Given the description of an element on the screen output the (x, y) to click on. 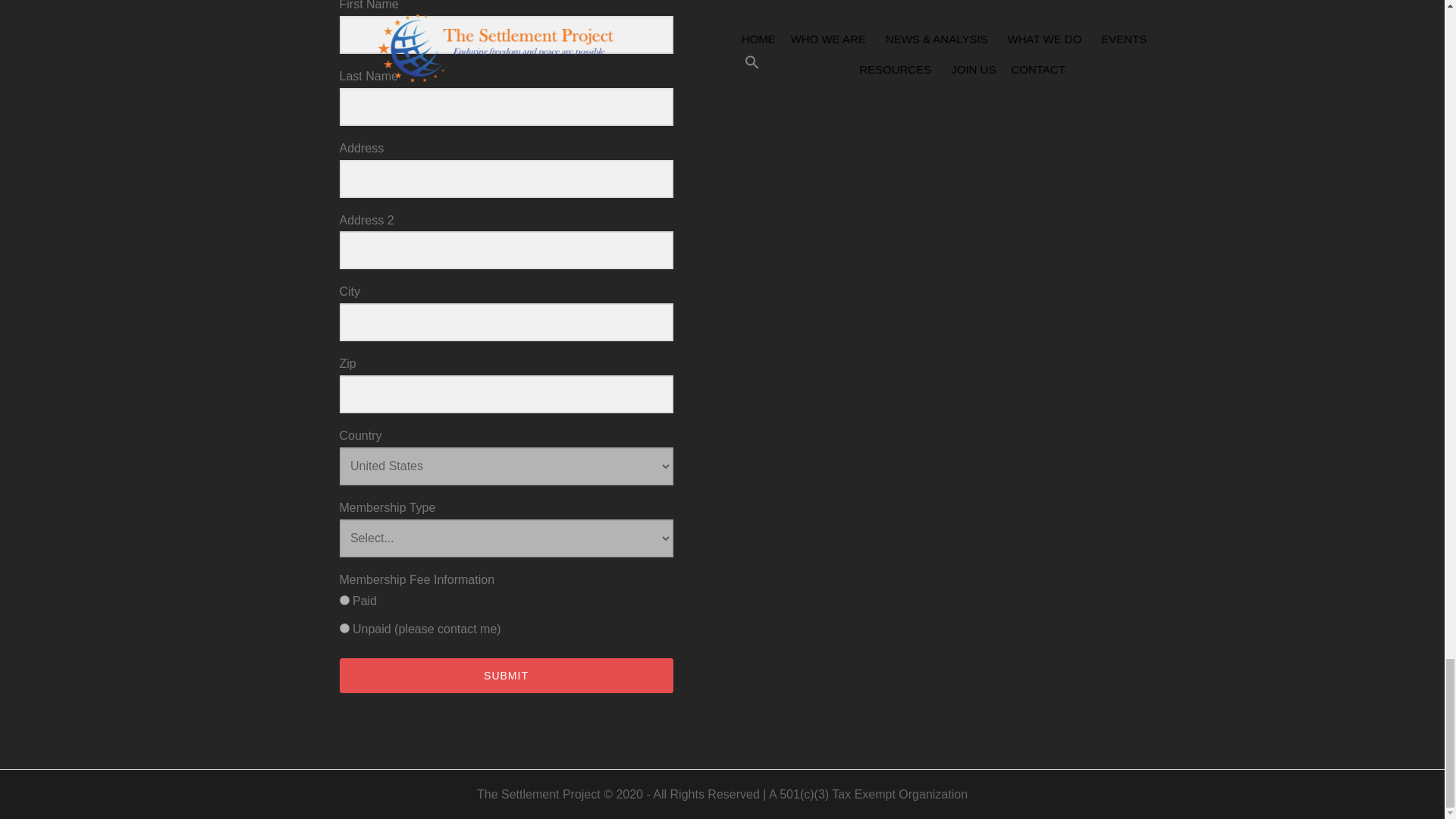
Paid (344, 600)
5 digit zip code, numbers only (505, 394)
